Given the description of an element on the screen output the (x, y) to click on. 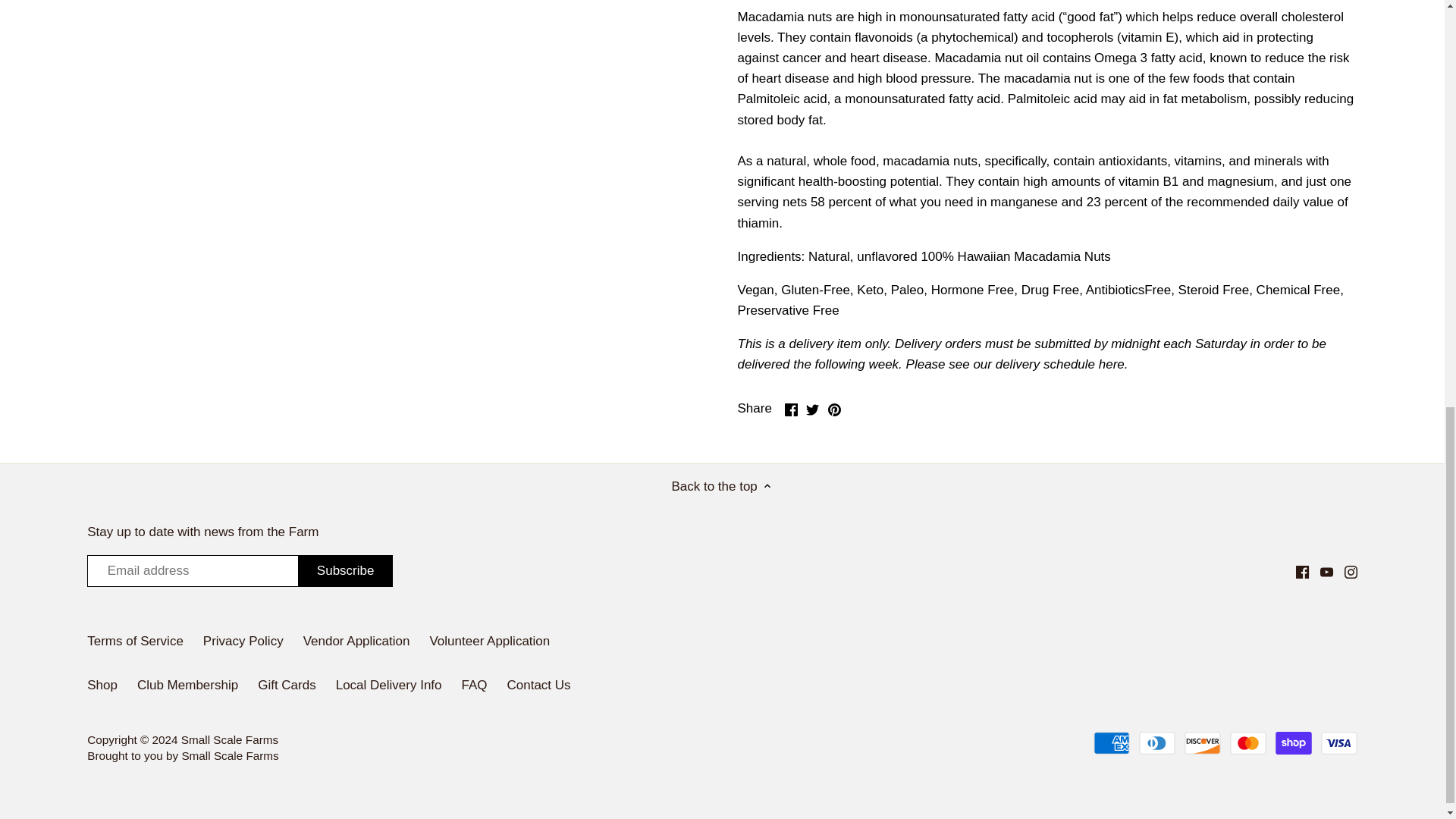
Twitter (812, 409)
Facebook (790, 409)
Mastercard (1248, 743)
Facebook (1301, 572)
Shop Pay (1293, 743)
Youtube (1326, 572)
American Express (1111, 743)
Diners Club (1156, 743)
Discover (1203, 743)
Subscribe (345, 571)
